Given the description of an element on the screen output the (x, y) to click on. 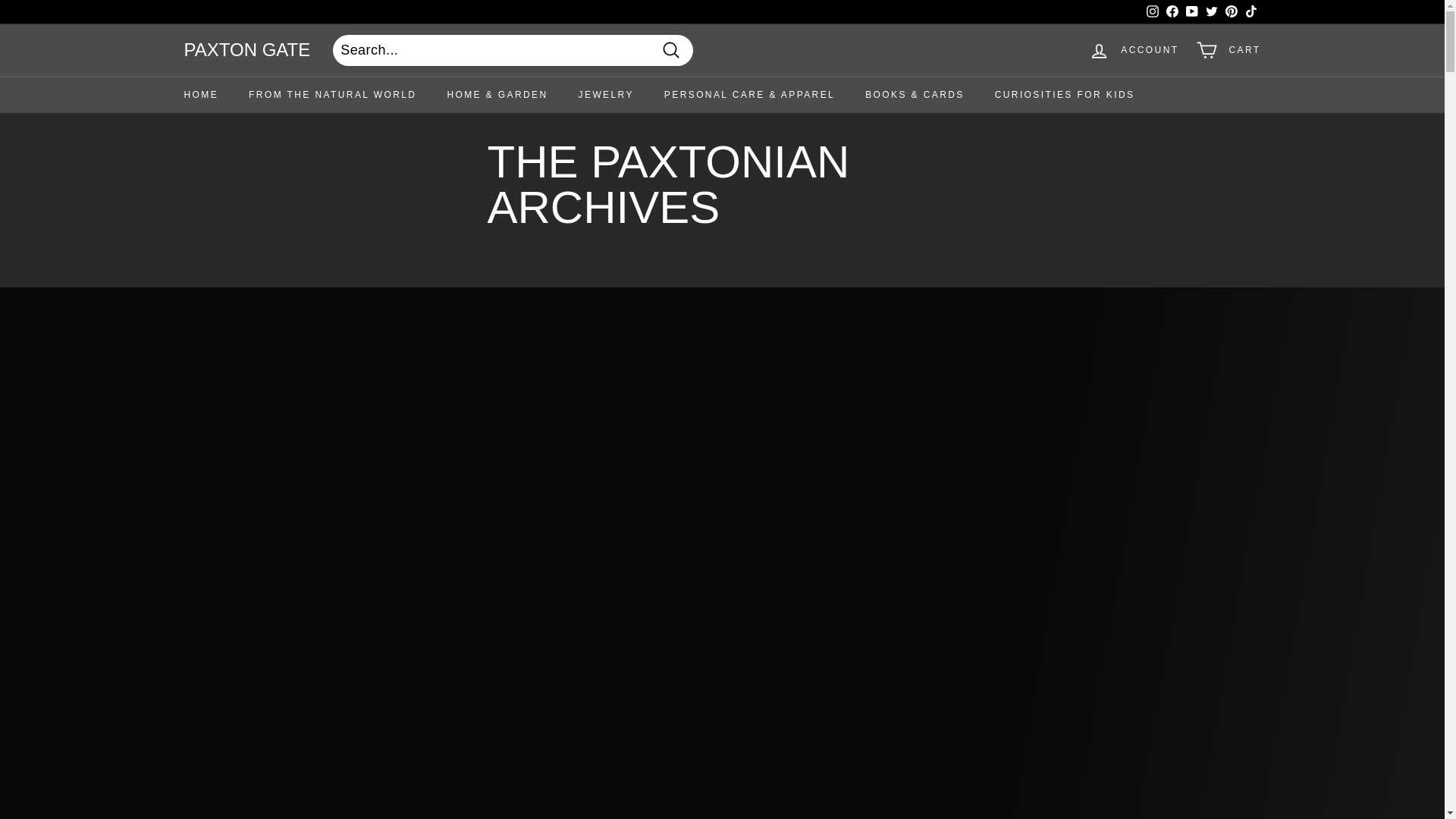
HOME (200, 94)
JEWELRY (606, 94)
ACCOUNT (1134, 49)
PAXTON GATE (246, 49)
FROM THE NATURAL WORLD (331, 94)
